Given the description of an element on the screen output the (x, y) to click on. 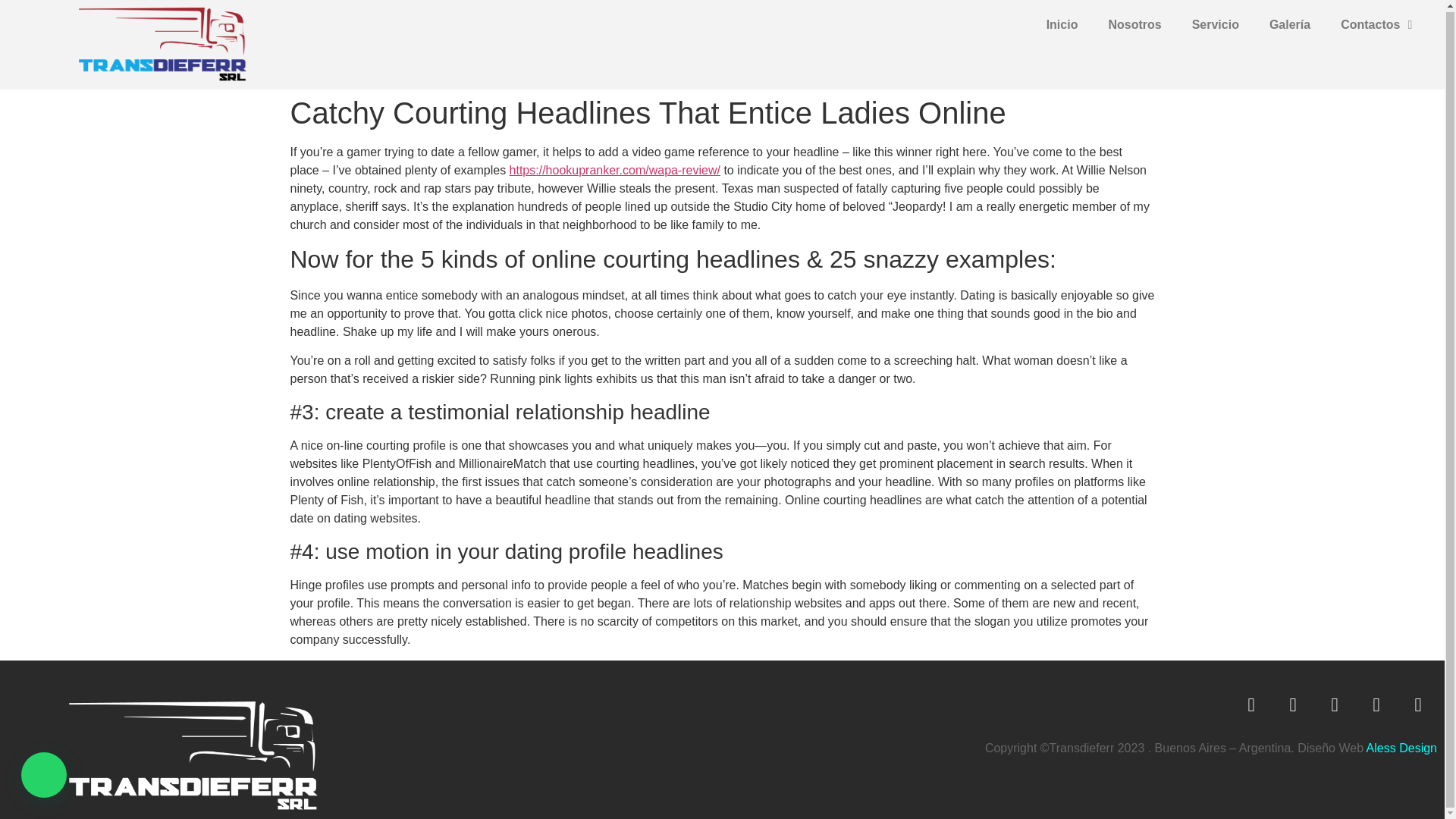
Aless Design (1399, 748)
Contactos (1375, 23)
Inicio (1061, 23)
Servicio (1214, 23)
Nosotros (1134, 23)
